Given the description of an element on the screen output the (x, y) to click on. 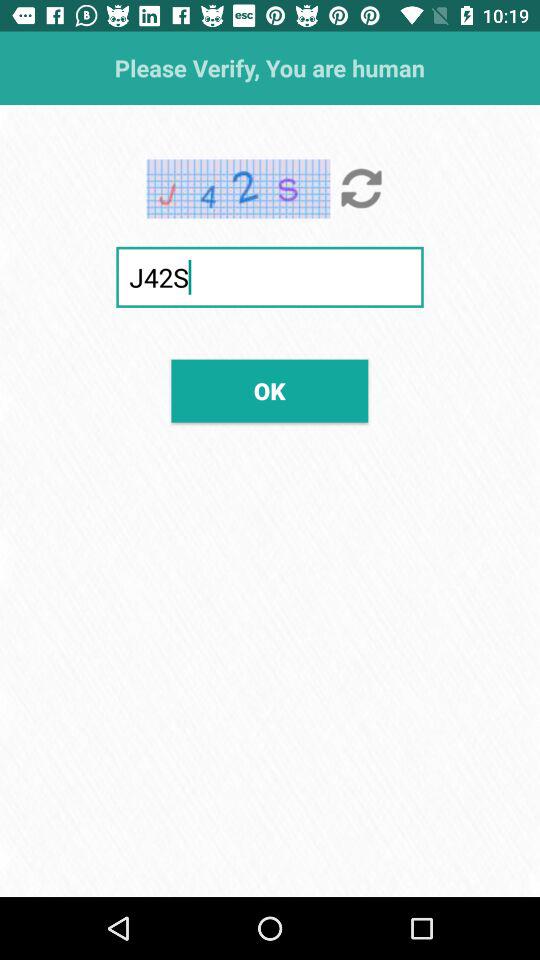
scroll to the ok (269, 390)
